Given the description of an element on the screen output the (x, y) to click on. 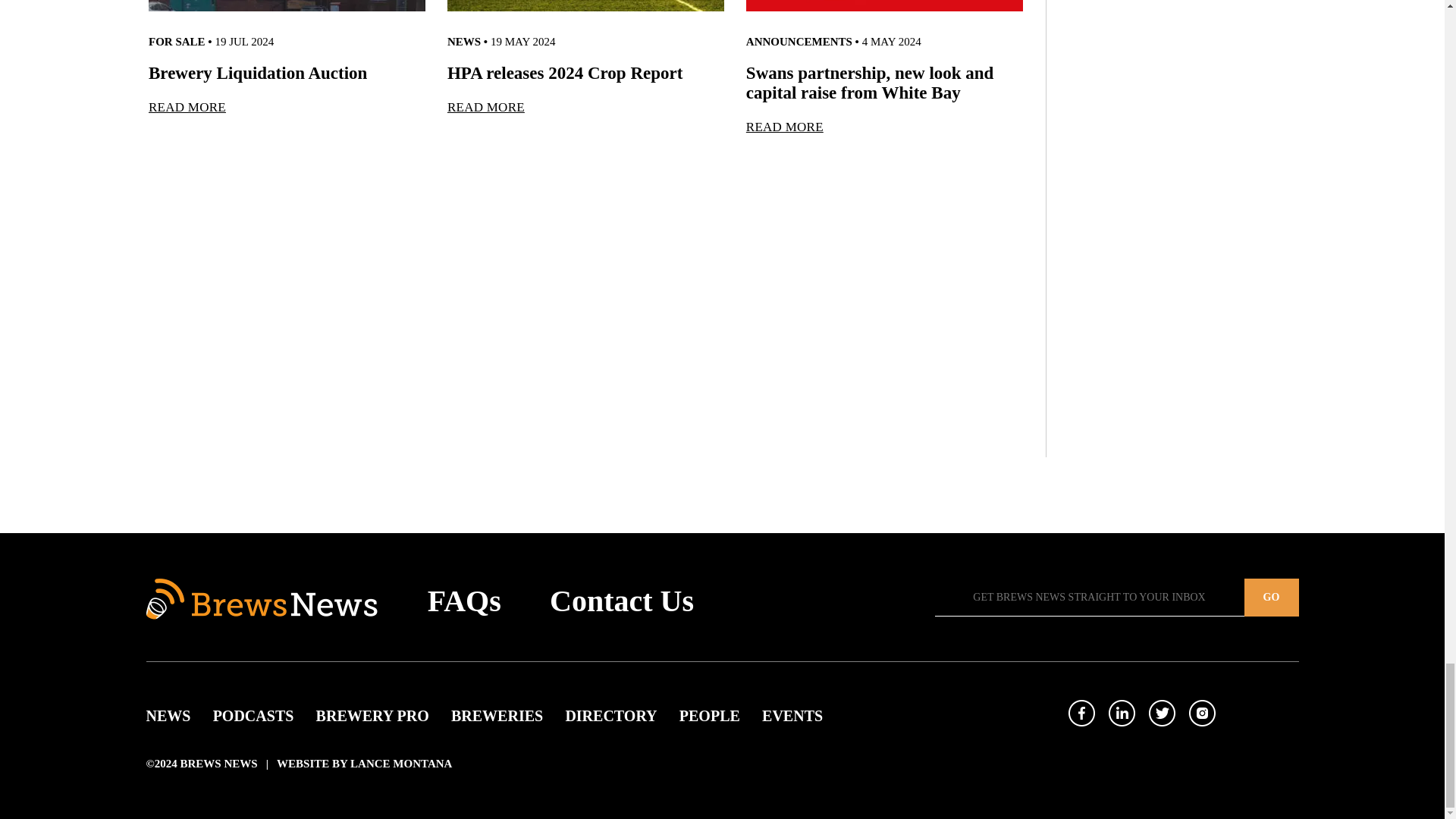
Go (1270, 597)
